Given the description of an element on the screen output the (x, y) to click on. 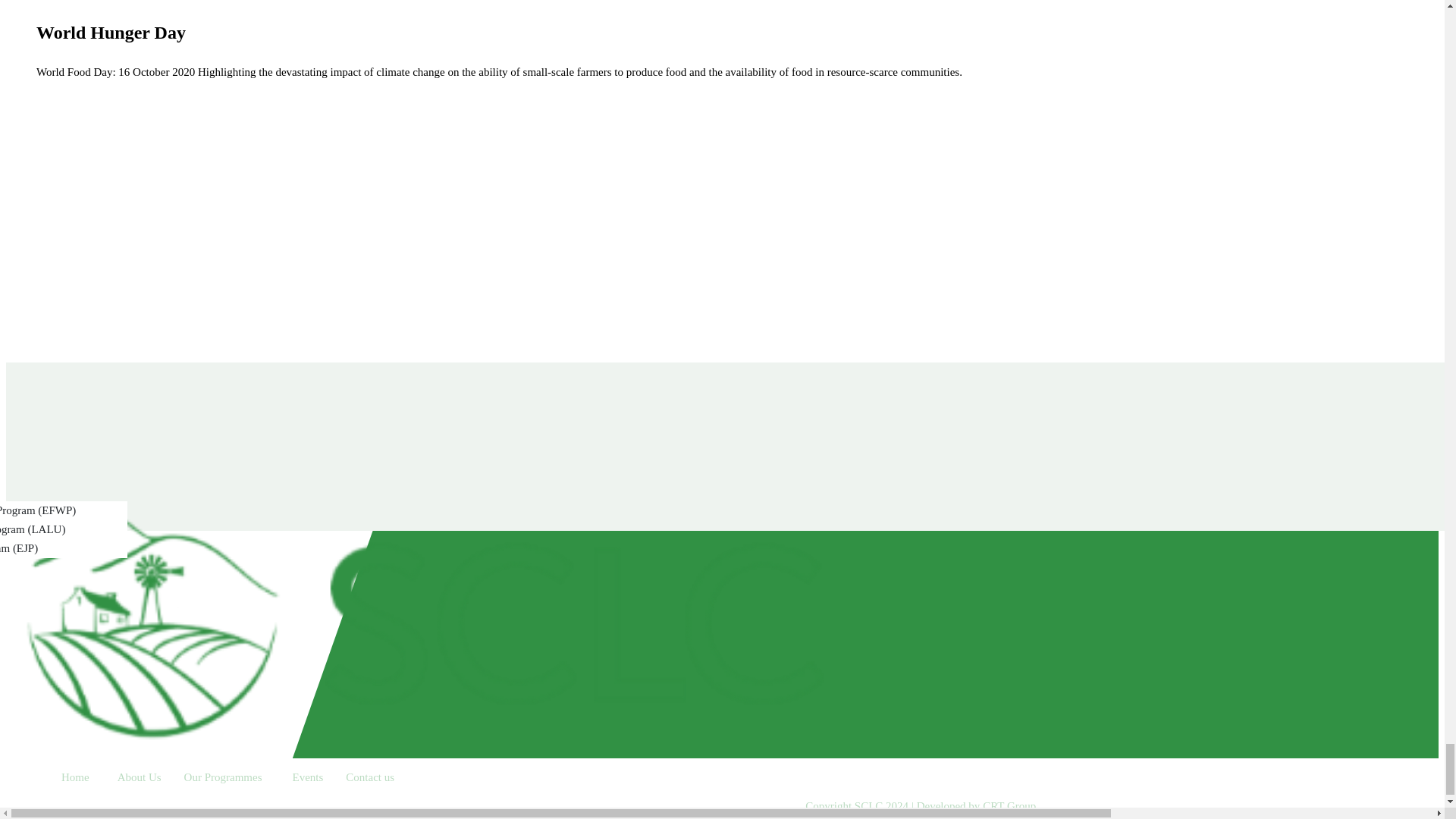
About Us (139, 776)
YouTube video player (264, 209)
Home (75, 776)
Our Programmes (226, 776)
